Given the description of an element on the screen output the (x, y) to click on. 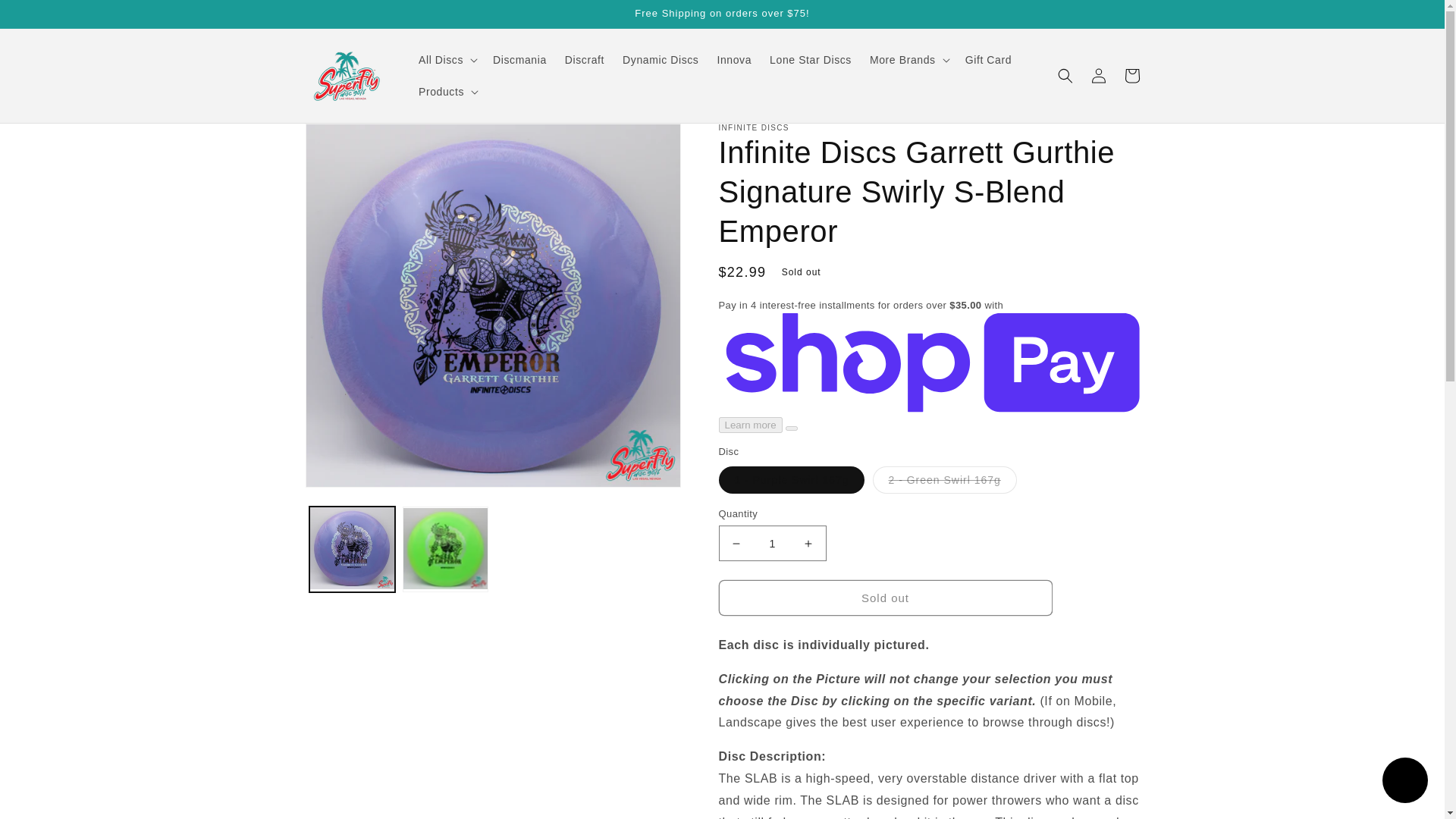
Skip to content (45, 17)
1 (773, 543)
Shopify online store chat (1404, 781)
